Given the description of an element on the screen output the (x, y) to click on. 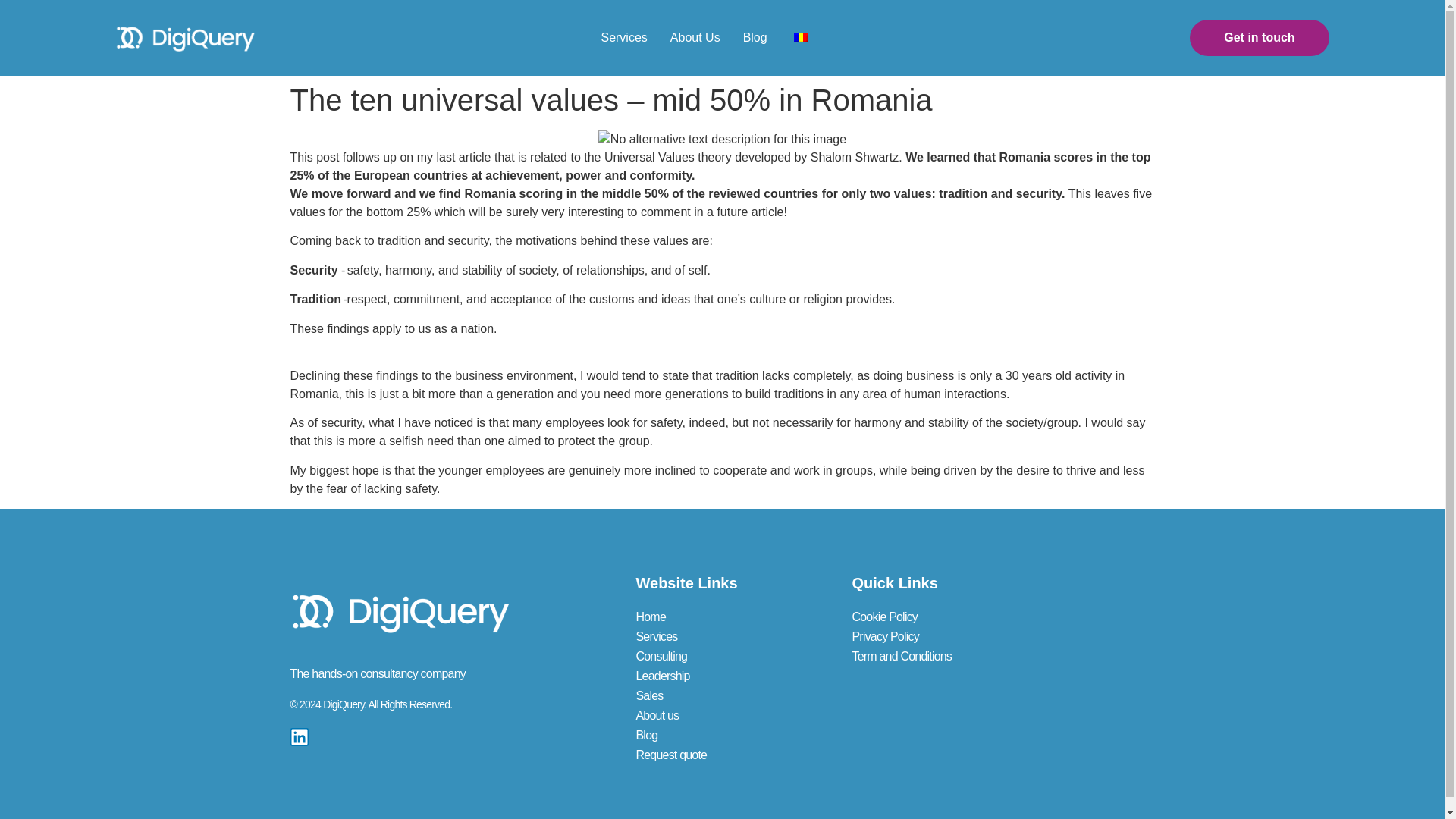
Romanian (800, 37)
About us (699, 715)
Cookie Policy (916, 617)
Request quote (699, 754)
Home (699, 617)
Get in touch (1258, 37)
Sales (699, 695)
Blog (754, 37)
Term and Conditions (916, 656)
Services (699, 637)
